Given the description of an element on the screen output the (x, y) to click on. 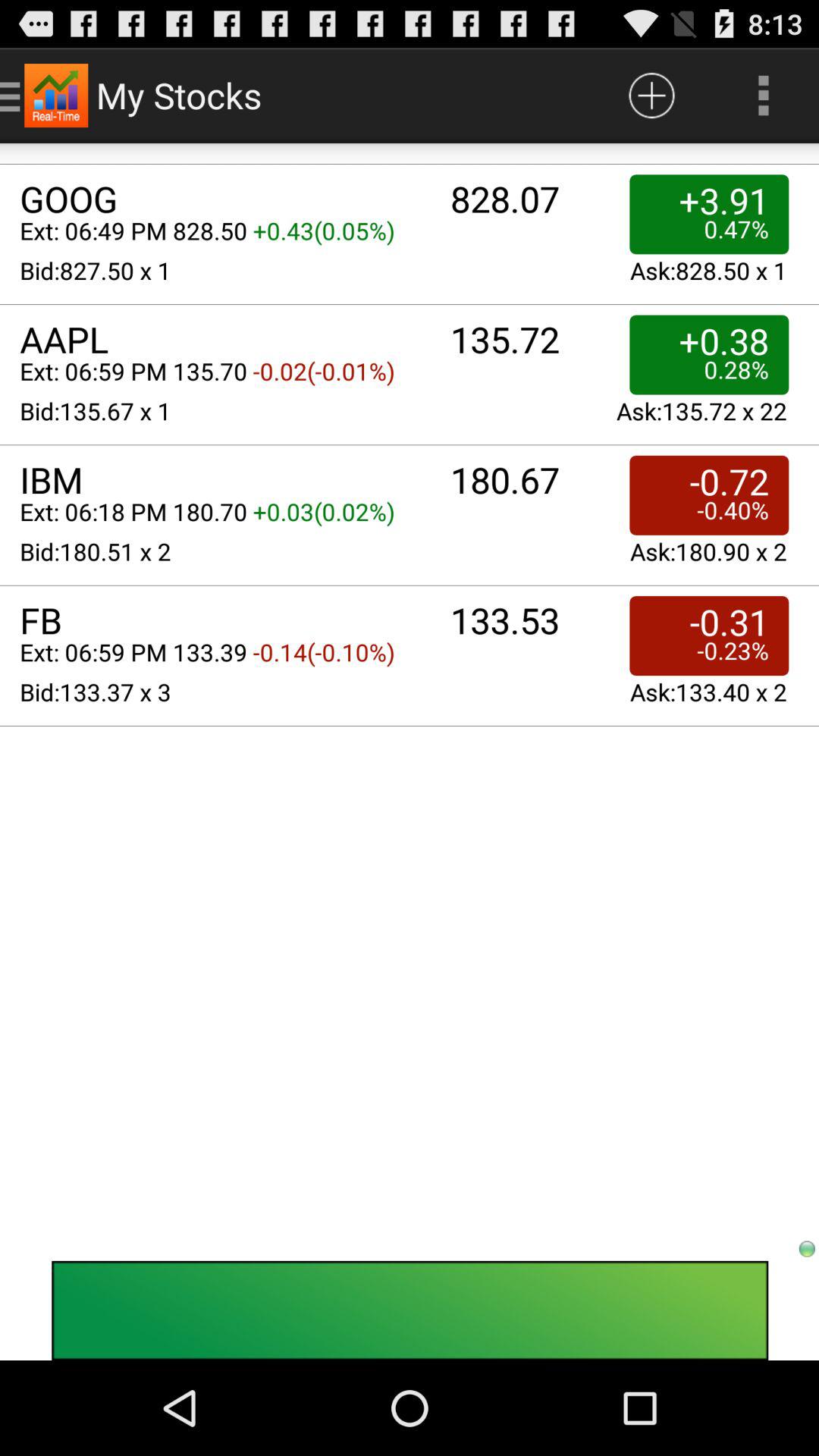
clicking on this button would give the use more information (651, 95)
